Given the description of an element on the screen output the (x, y) to click on. 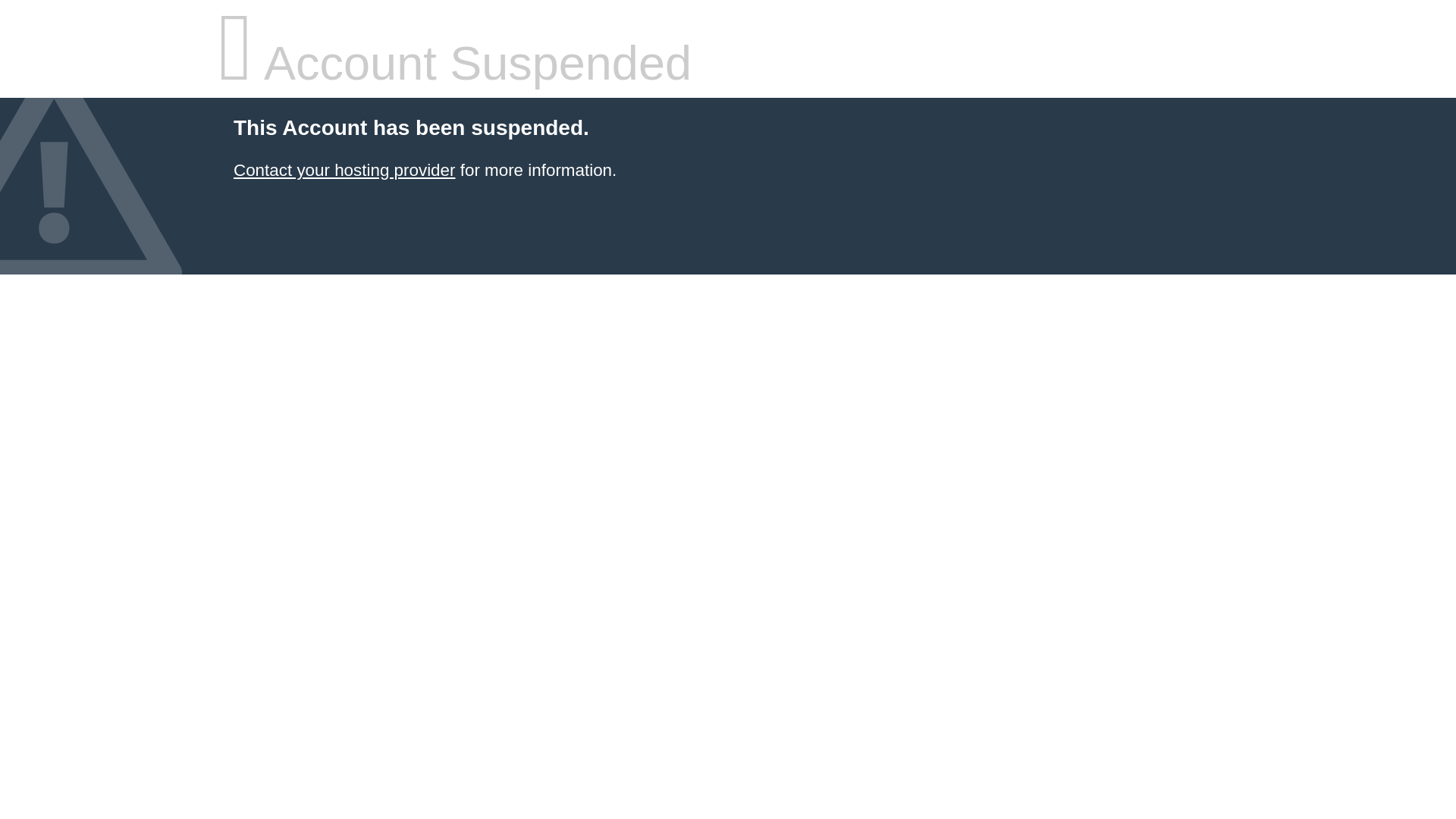
Contact your hosting provider (343, 169)
